Given the description of an element on the screen output the (x, y) to click on. 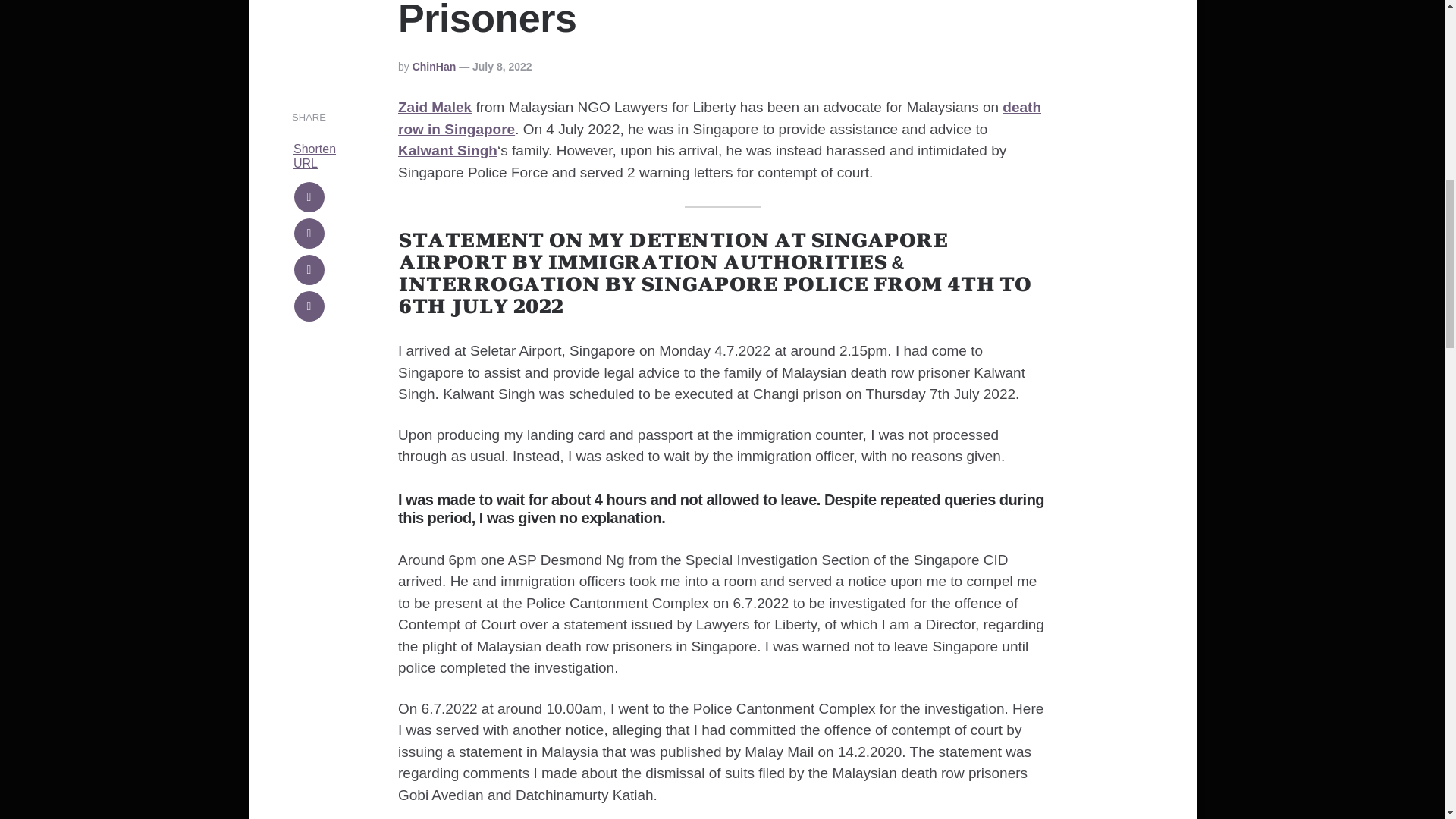
Zaid Malek (434, 107)
Kalwant Singh (447, 150)
ChinHan (434, 66)
death row in Singapore (719, 118)
Shorten URL (315, 155)
